Given the description of an element on the screen output the (x, y) to click on. 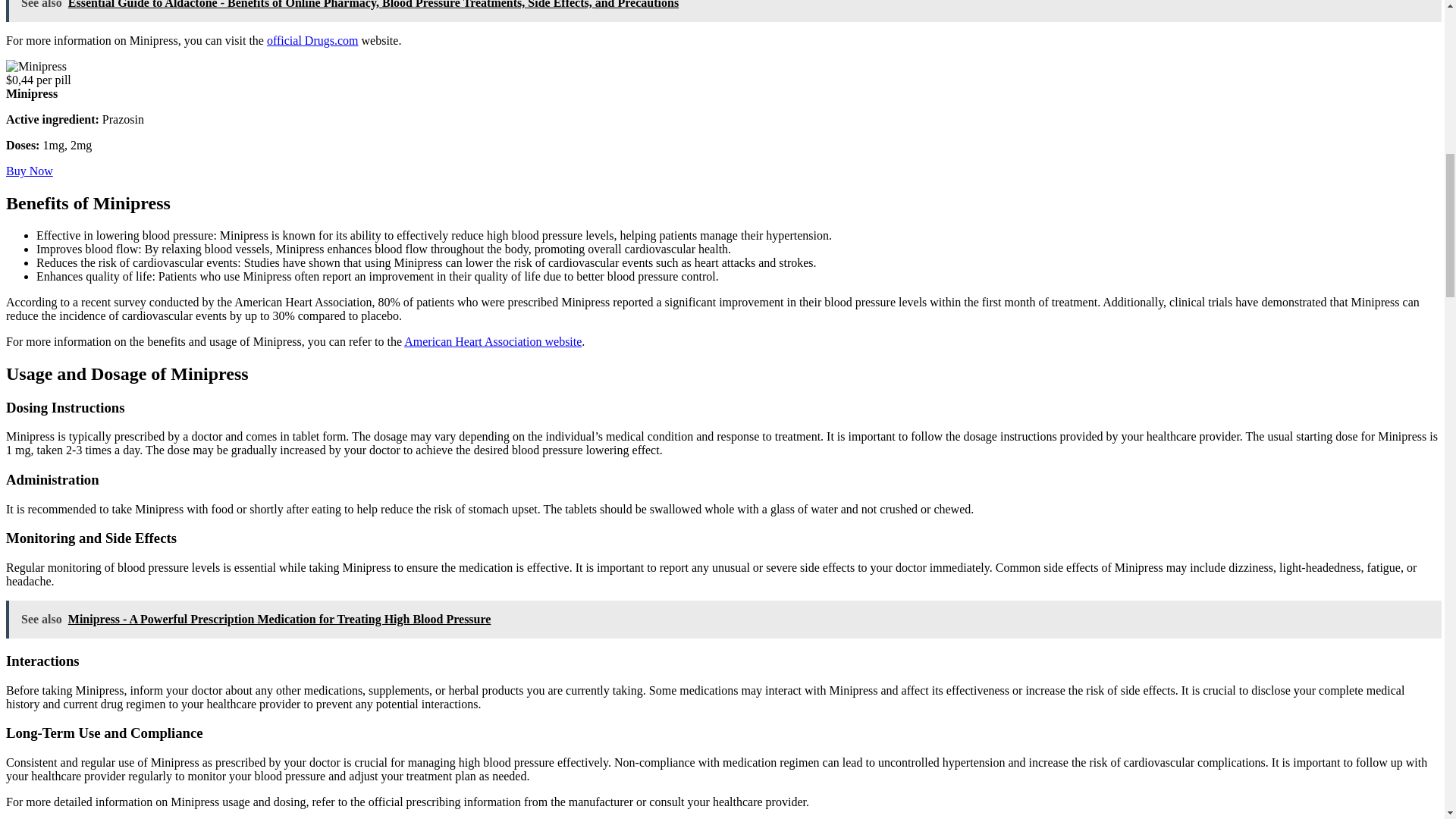
official Drugs.com (312, 40)
American Heart Association website (492, 341)
Buy Now (28, 170)
